Given the description of an element on the screen output the (x, y) to click on. 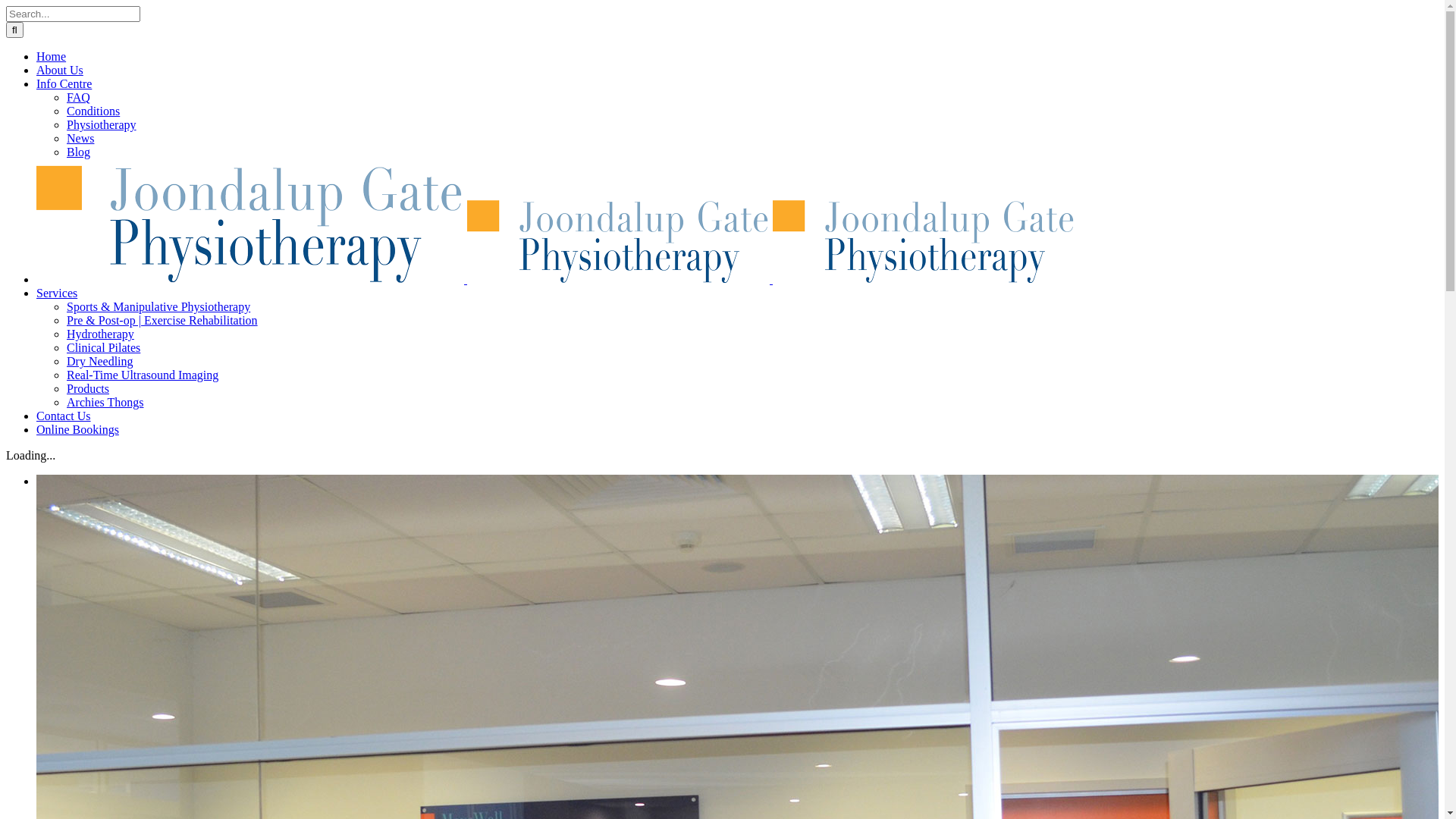
Physiotherapy Element type: text (101, 124)
Products Element type: text (87, 388)
Info Centre Element type: text (63, 83)
About Us Element type: text (59, 69)
Services Element type: text (56, 292)
News Element type: text (80, 137)
Online Bookings Element type: text (77, 429)
Blog Element type: text (78, 151)
Conditions Element type: text (92, 110)
Clinical Pilates Element type: text (103, 347)
Pre & Post-op | Exercise Rehabilitation Element type: text (161, 319)
Archies Thongs Element type: text (104, 401)
Sports & Manipulative Physiotherapy Element type: text (158, 306)
Home Element type: text (50, 56)
Hydrotherapy Element type: text (100, 333)
Contact Us Element type: text (63, 415)
FAQ Element type: text (78, 97)
Dry Needling Element type: text (99, 360)
Skip to content Element type: text (5, 5)
Real-Time Ultrasound Imaging Element type: text (142, 374)
